Given the description of an element on the screen output the (x, y) to click on. 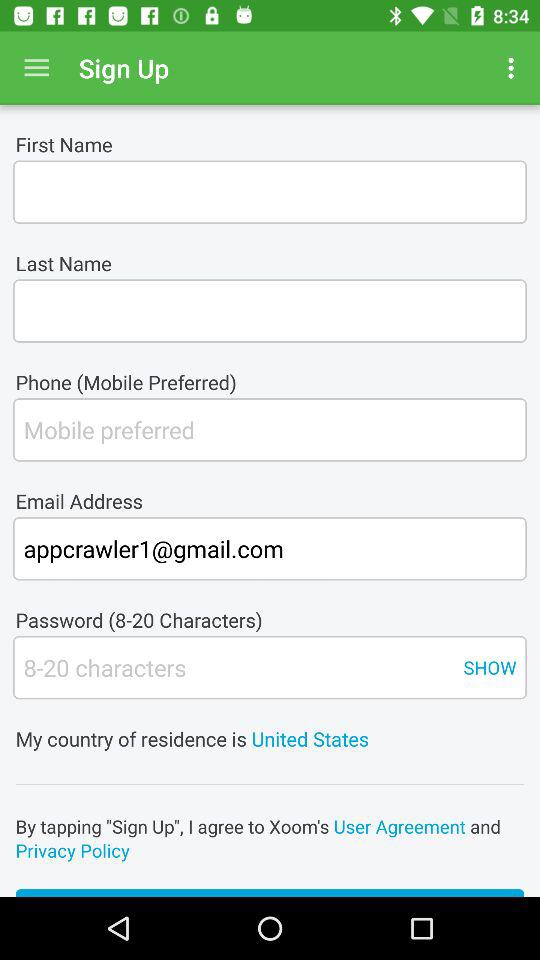
press item to the left of sign up (36, 68)
